Given the description of an element on the screen output the (x, y) to click on. 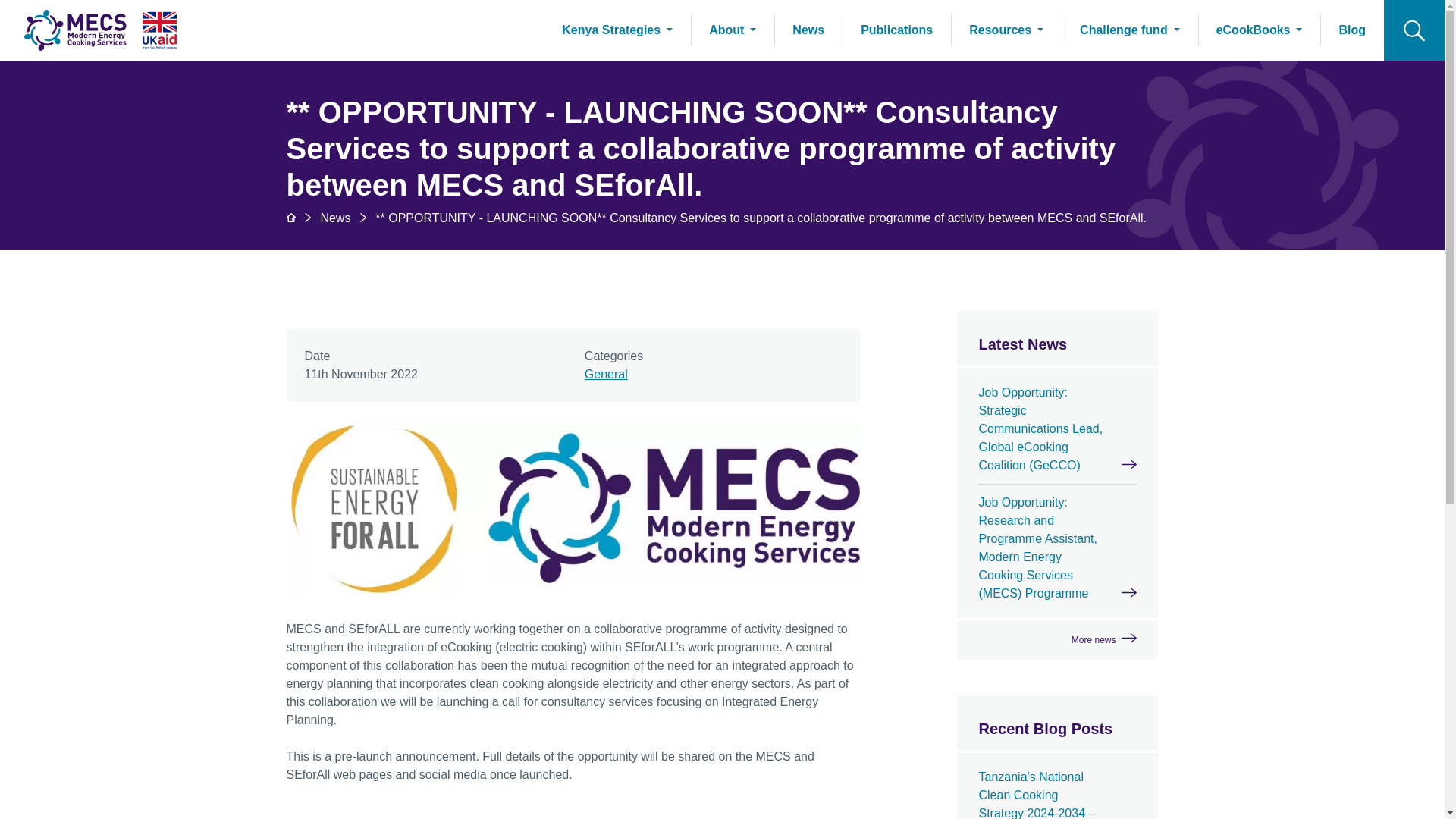
Publications (896, 30)
General (606, 373)
News (808, 30)
About (732, 30)
Kenya Strategies (616, 30)
Blog (1352, 30)
Challenge fund (1129, 30)
Resources (1005, 30)
News (335, 217)
eCookBooks (1259, 30)
